Given the description of an element on the screen output the (x, y) to click on. 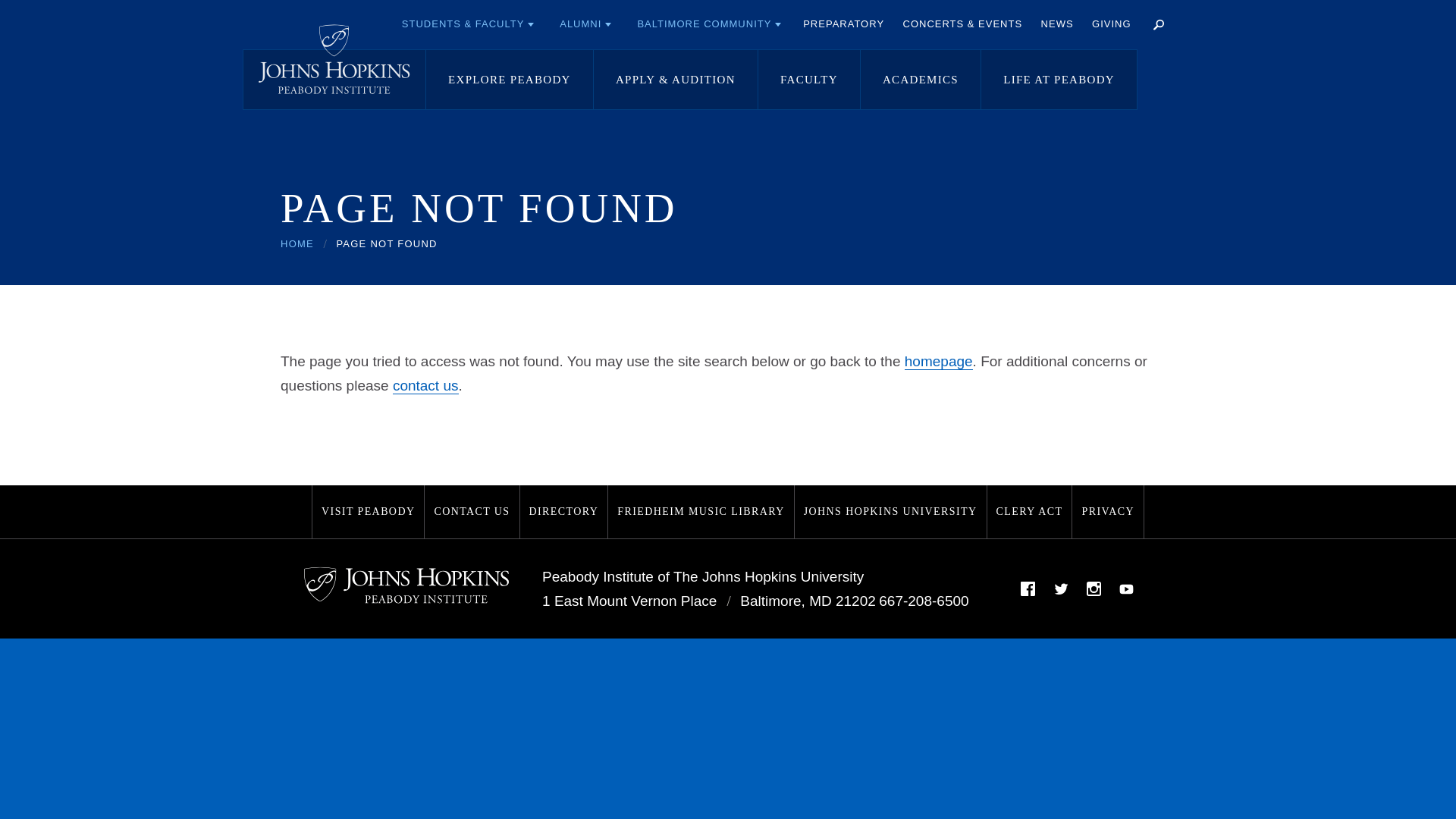
NEWS (1057, 24)
PREPARATORY (842, 24)
ALUMNI (585, 24)
GIVING (1111, 24)
Search (1157, 23)
EXPLORE PEABODY (509, 78)
Peabody Institute (334, 59)
BALTIMORE COMMUNITY (709, 24)
